Given the description of an element on the screen output the (x, y) to click on. 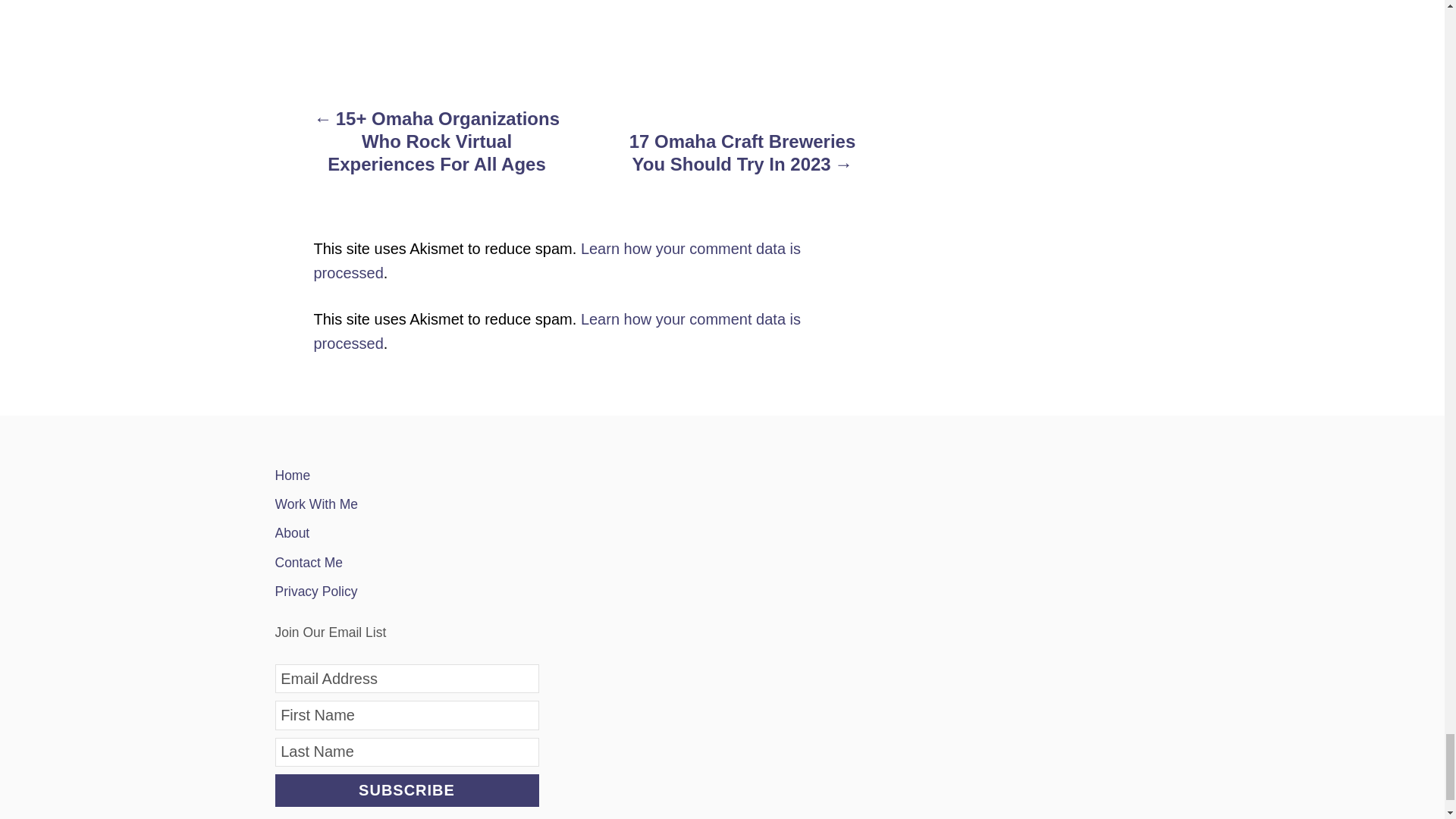
First Name (406, 715)
17 Omaha Craft Breweries You Should Try In 2023 (741, 160)
Subscribe (406, 789)
Last Name (406, 751)
Email Address (406, 678)
